Given the description of an element on the screen output the (x, y) to click on. 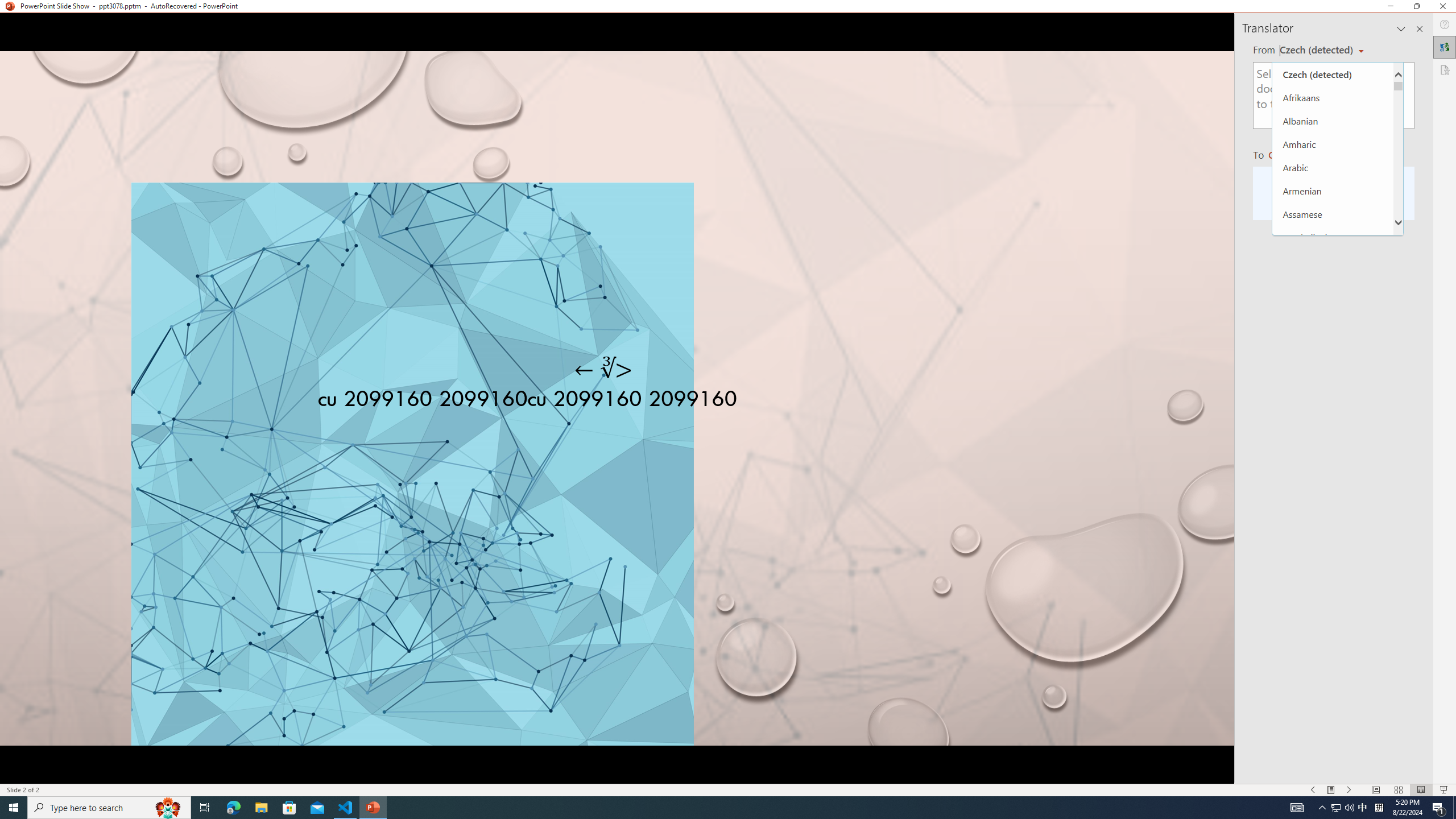
Catalan (1332, 446)
Slide Show Next On (1349, 790)
Czech (1291, 154)
Assamese (1332, 214)
Chinese Simplified (1332, 516)
Czech (1332, 586)
Dutch (1332, 702)
Bangla (1332, 260)
Dari (1332, 633)
Albanian (1332, 120)
